Given the description of an element on the screen output the (x, y) to click on. 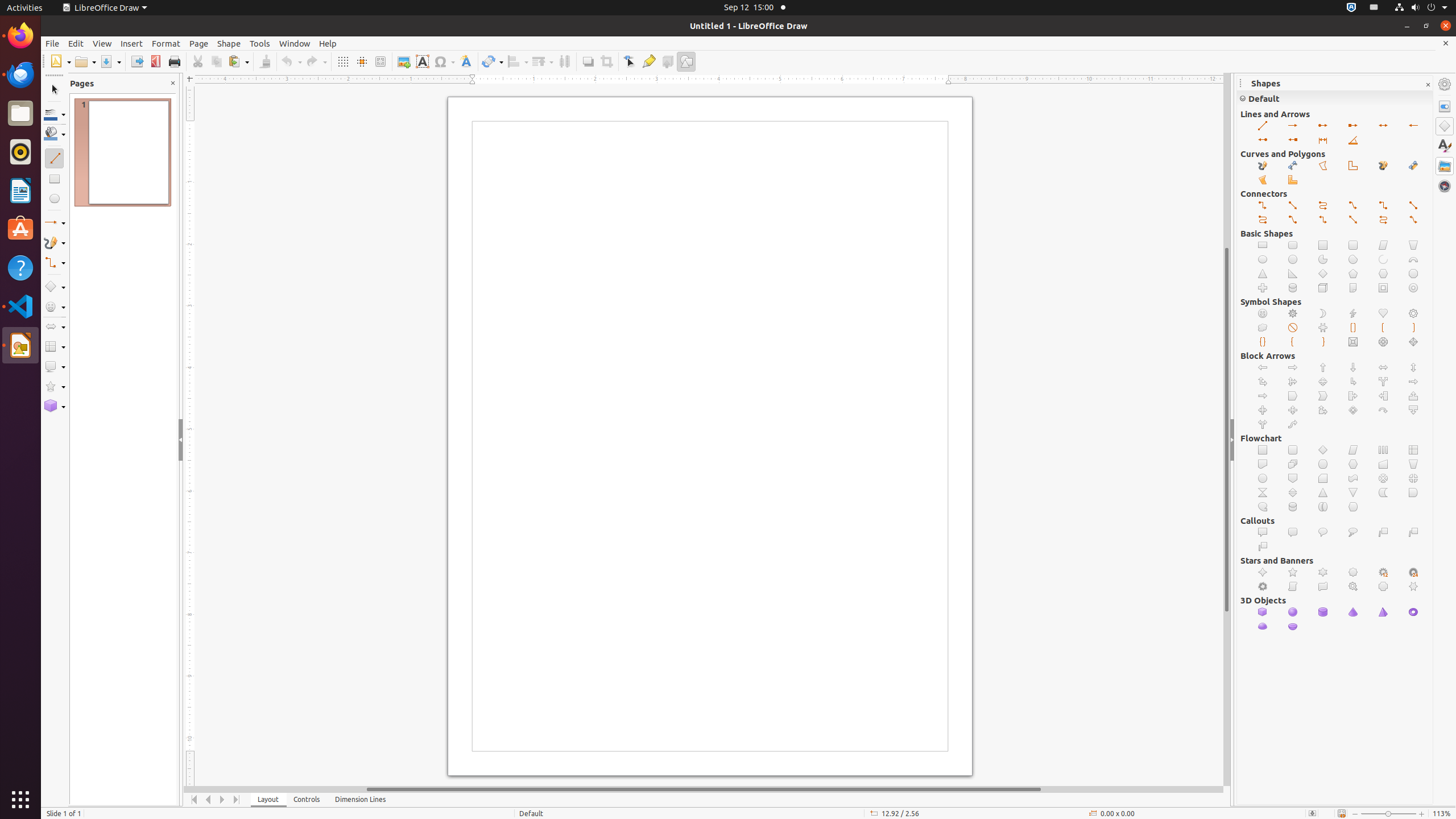
Flower Element type: list-item (1413, 313)
Flowchart: Off-page Connector Element type: list-item (1292, 478)
Connector with Arrows Element type: list-item (1323, 219)
Round Callout Element type: list-item (1323, 532)
Vertical Scroll Element type: list-item (1292, 586)
